Given the description of an element on the screen output the (x, y) to click on. 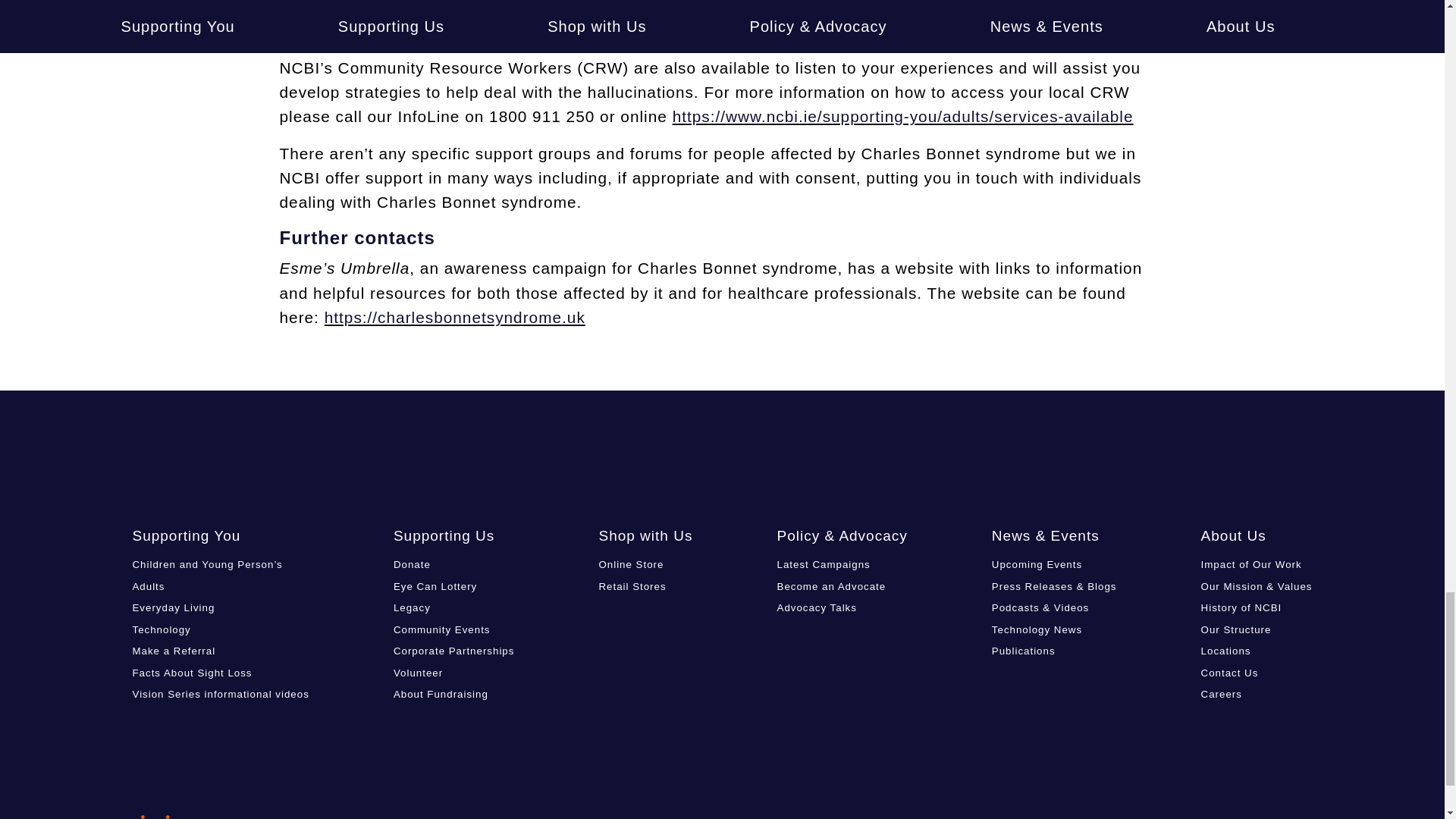
facebook icon (1115, 457)
twitter icon (1174, 457)
instagram icon (1292, 457)
youtube icon (1233, 457)
